Given the description of an element on the screen output the (x, y) to click on. 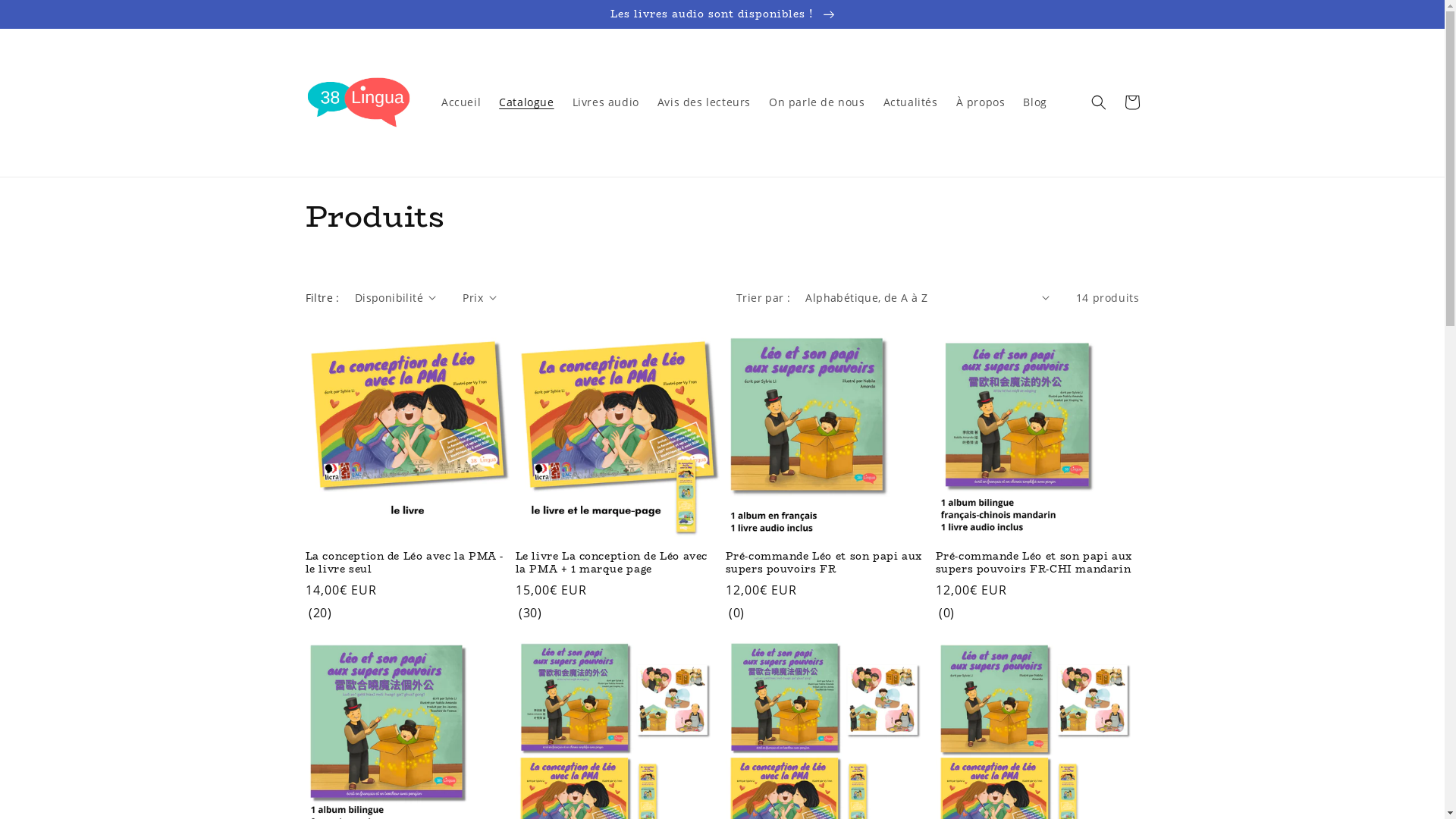
Accueil Element type: text (460, 102)
Livres audio Element type: text (605, 102)
Avis des lecteurs Element type: text (703, 102)
Catalogue Element type: text (525, 102)
Les livres audio sont disponibles ! Element type: text (722, 14)
Panier Element type: text (1131, 102)
Blog Element type: text (1034, 102)
On parle de nous Element type: text (816, 102)
